Given the description of an element on the screen output the (x, y) to click on. 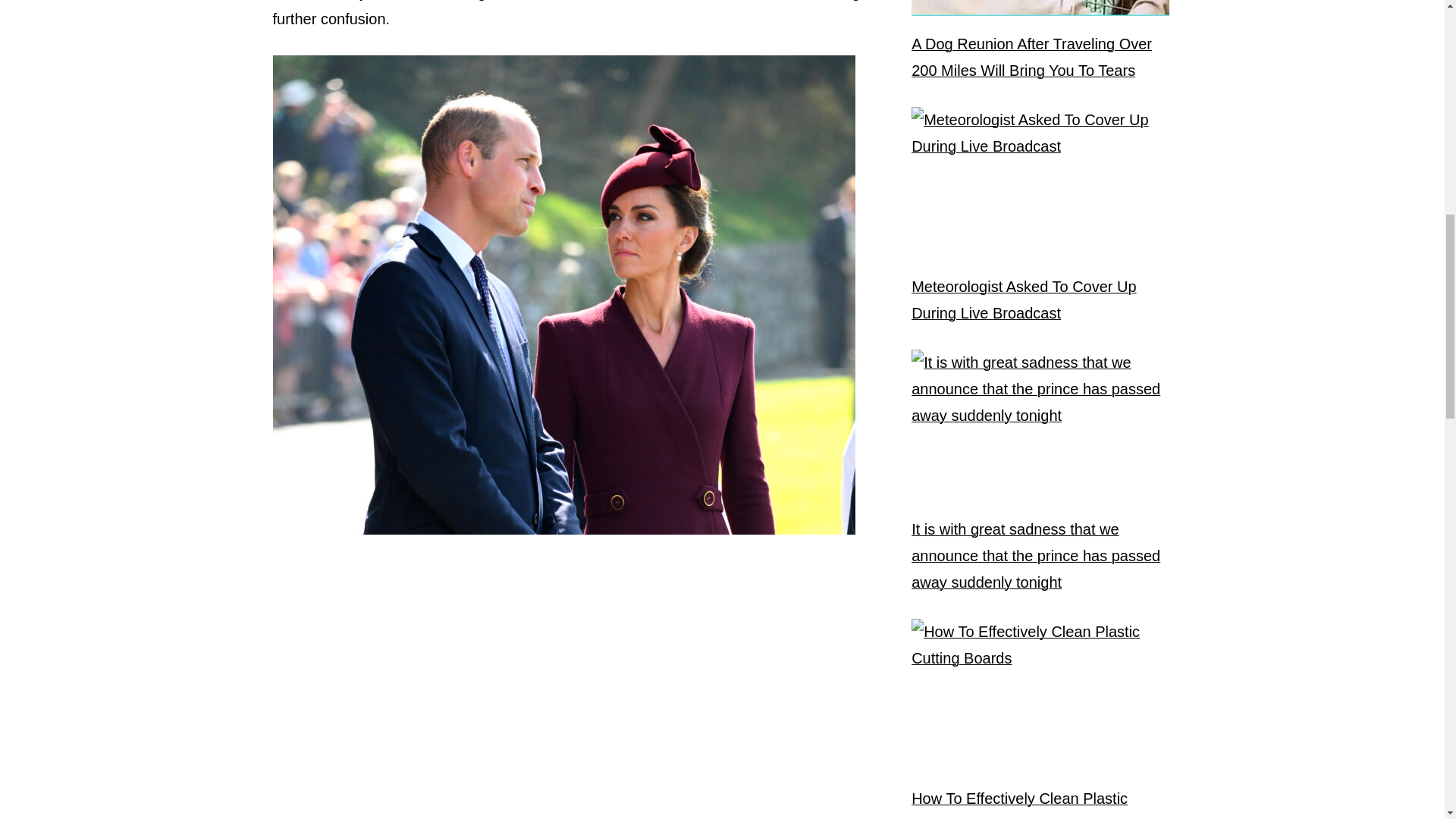
Meteorologist Asked To Cover Up During Live Broadcast (1040, 299)
How To Effectively Clean Plastic Cutting Boards (1040, 802)
